Given the description of an element on the screen output the (x, y) to click on. 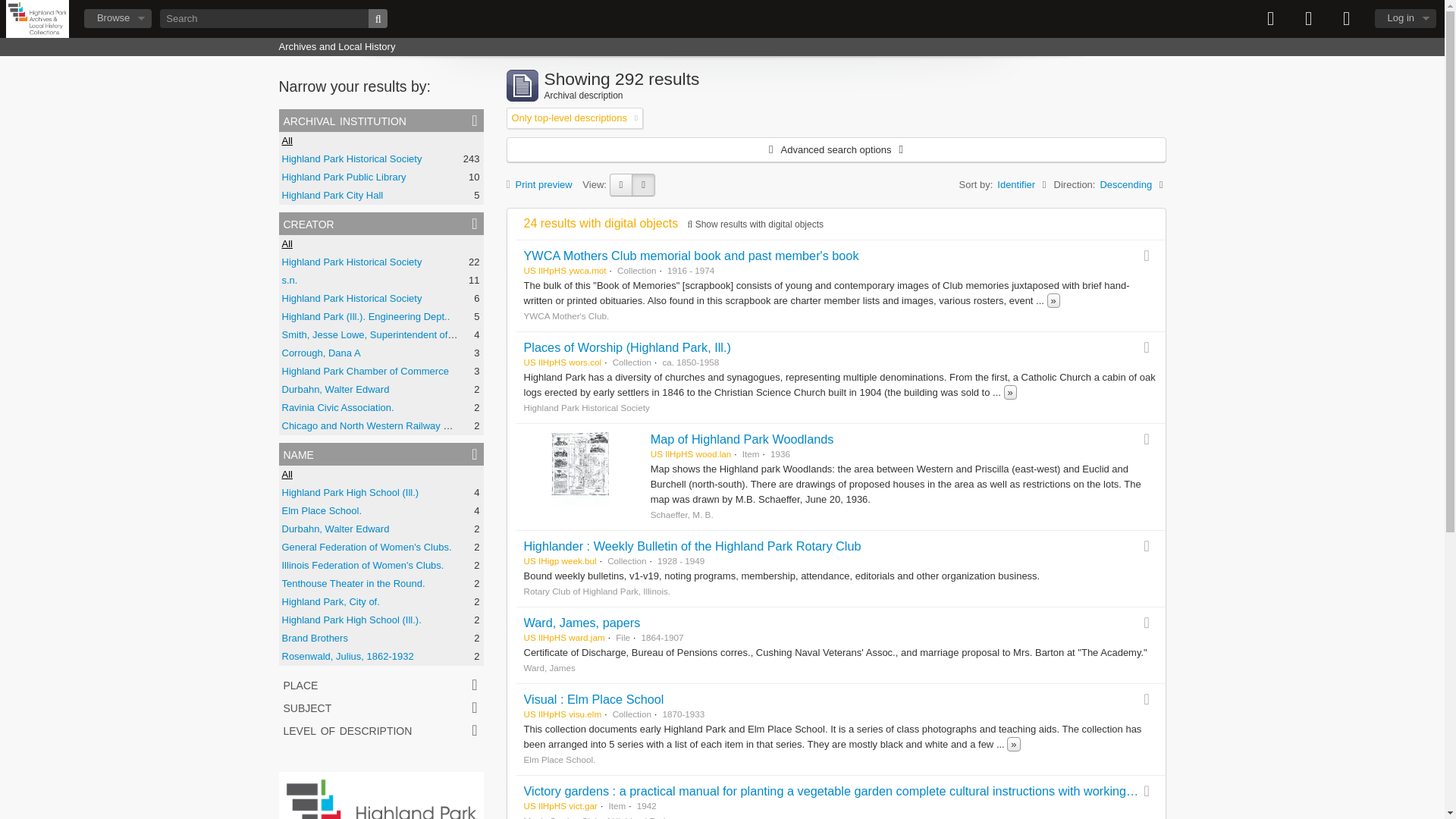
Browse (117, 18)
Corrough, Dana A (321, 352)
s.n. (290, 279)
Highland Park Historical Society (352, 297)
Durbahn, Walter Edward (336, 389)
Highland Park Chamber of Commerce (365, 370)
Highland Park Public Library (344, 176)
Language (1308, 18)
All (287, 140)
Highland Park Historical Society (352, 158)
Log in (1404, 18)
Highland Park City Hall (333, 194)
All (287, 243)
Highland Park Historical Society (352, 261)
